Given the description of an element on the screen output the (x, y) to click on. 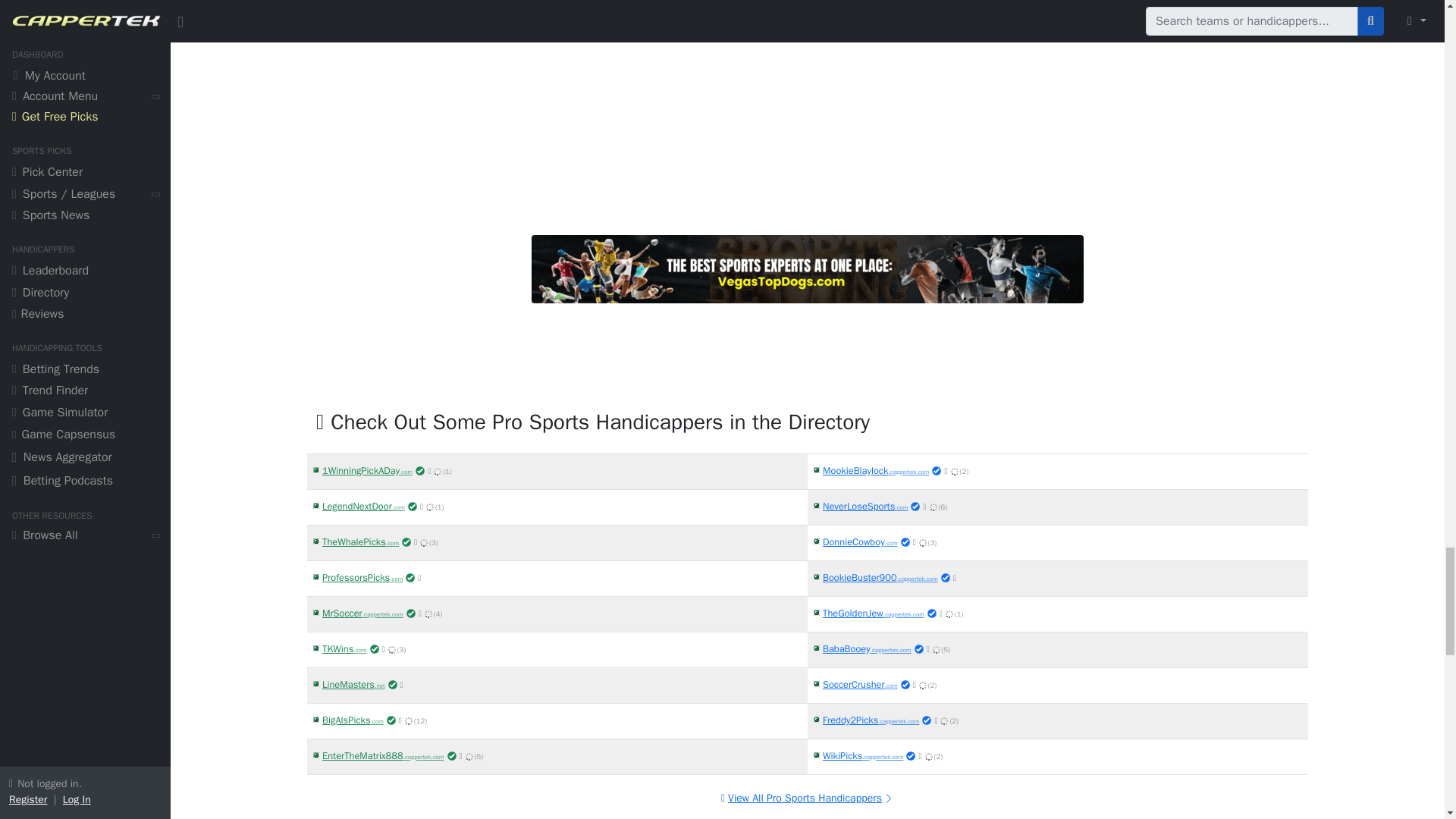
3 Picks Available (424, 542)
Pro Featured Verified Service (360, 540)
1 Pick Available (437, 471)
Service Active (315, 541)
Pro Featured Verified Service (363, 505)
Service Active (315, 469)
Pro Featured Verified Service (411, 506)
Pro Featured Verified Service (405, 542)
Pro Featured Verified Service (367, 469)
Pro Featured Verified Service (362, 576)
